Given the description of an element on the screen output the (x, y) to click on. 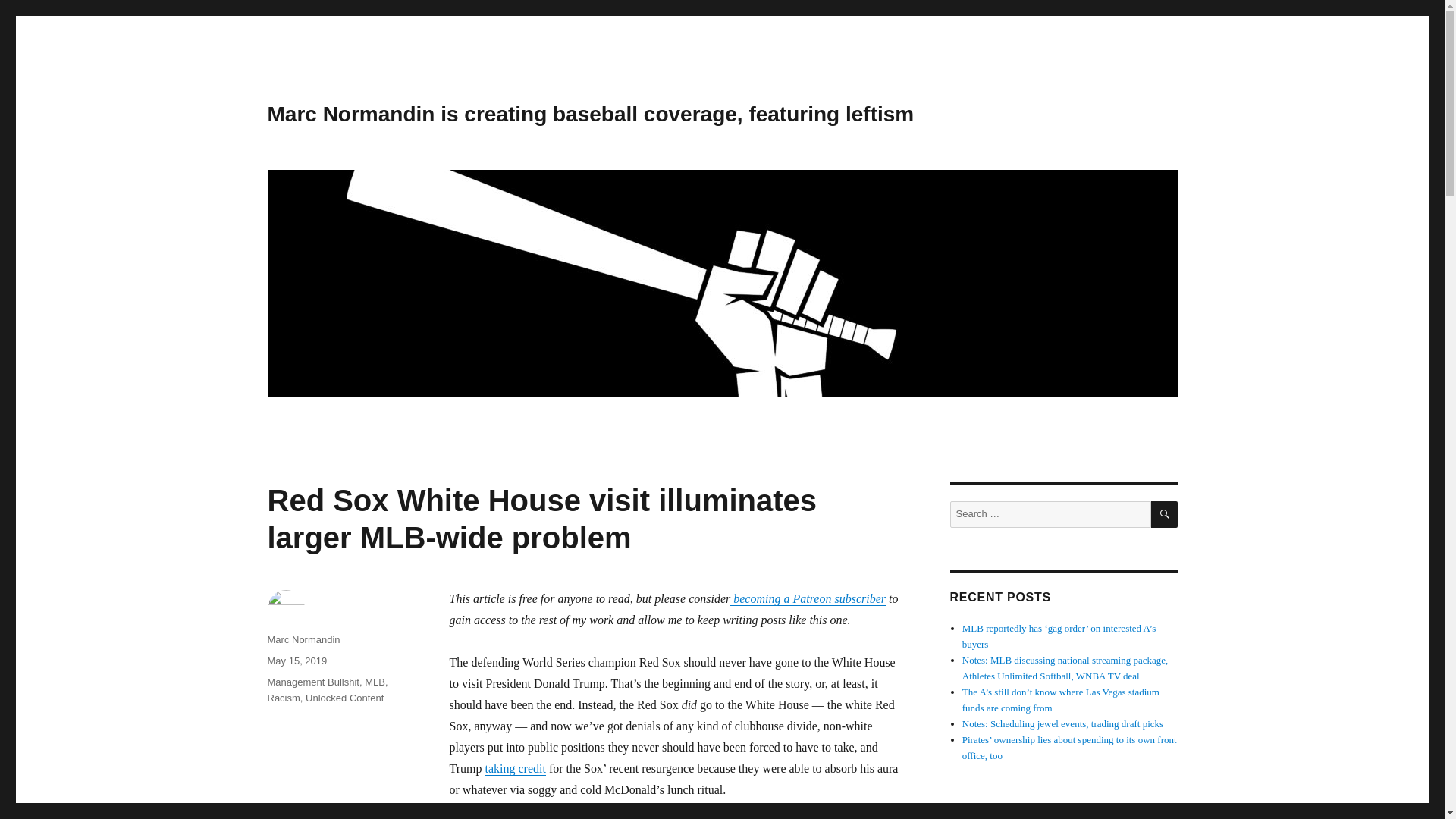
SEARCH (1164, 514)
Marc Normandin (302, 639)
May 15, 2019 (296, 660)
Racism (282, 697)
Notes: Scheduling jewel events, trading draft picks (1062, 723)
taking credit (514, 768)
Management Bullshit (312, 681)
MLB (375, 681)
becoming a Patreon subscriber (807, 598)
Unlocked Content (344, 697)
